Given the description of an element on the screen output the (x, y) to click on. 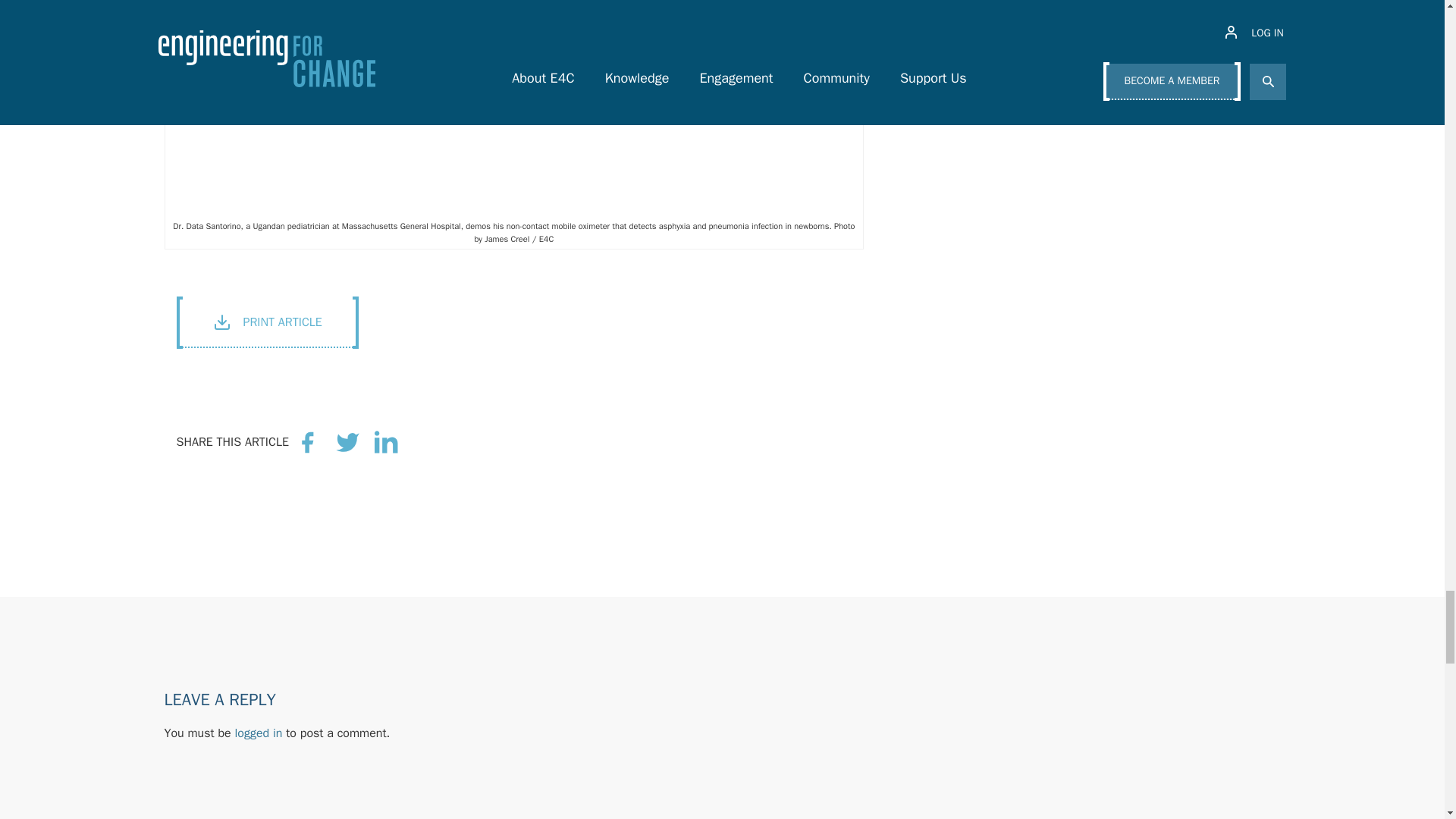
twitter (347, 441)
facebook (308, 441)
linkedin (387, 441)
